Given the description of an element on the screen output the (x, y) to click on. 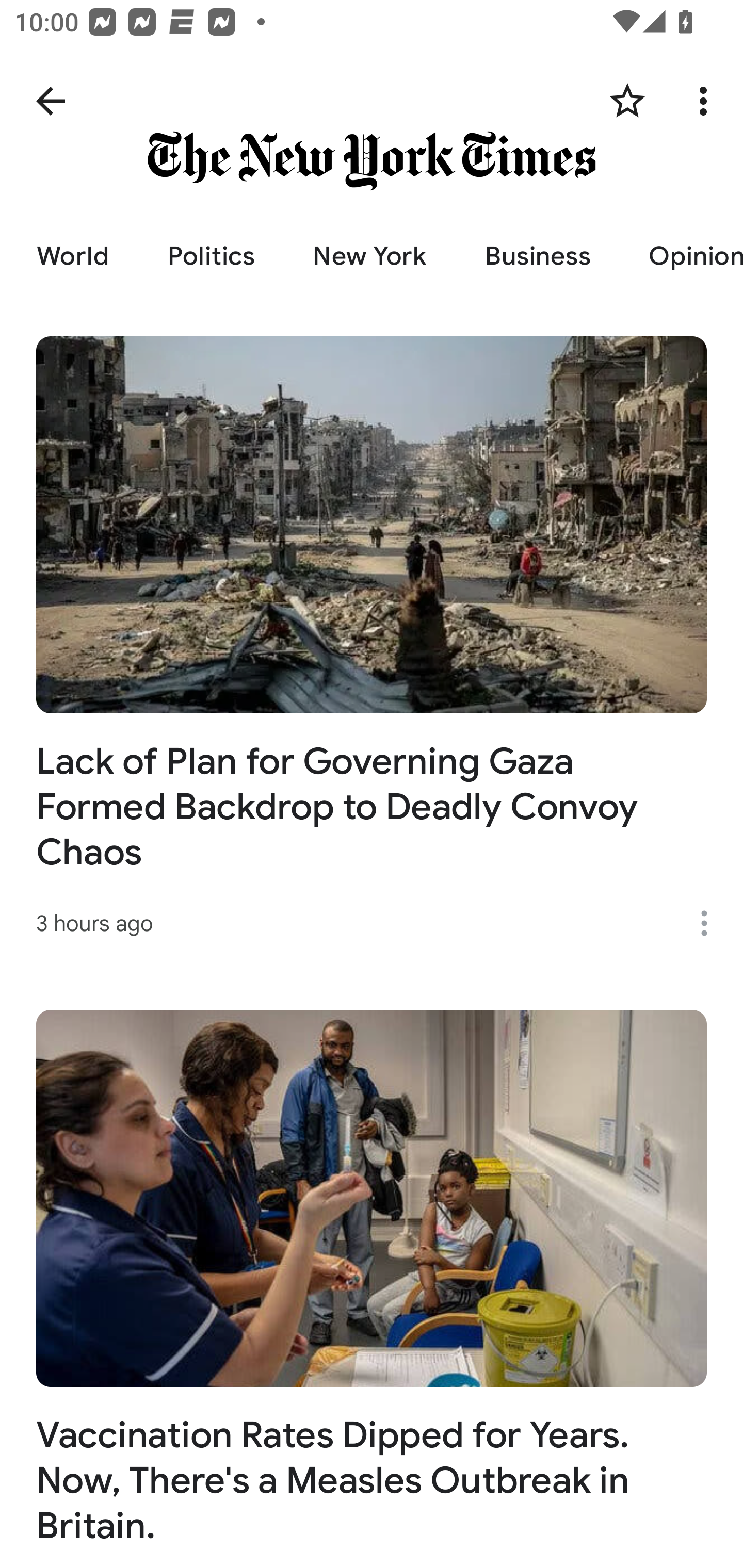
Navigate up (50, 101)
Follow (626, 101)
More options (706, 101)
World (72, 256)
Politics (210, 256)
New York (369, 256)
Business (537, 256)
Opinion (681, 256)
More options (711, 923)
